Given the description of an element on the screen output the (x, y) to click on. 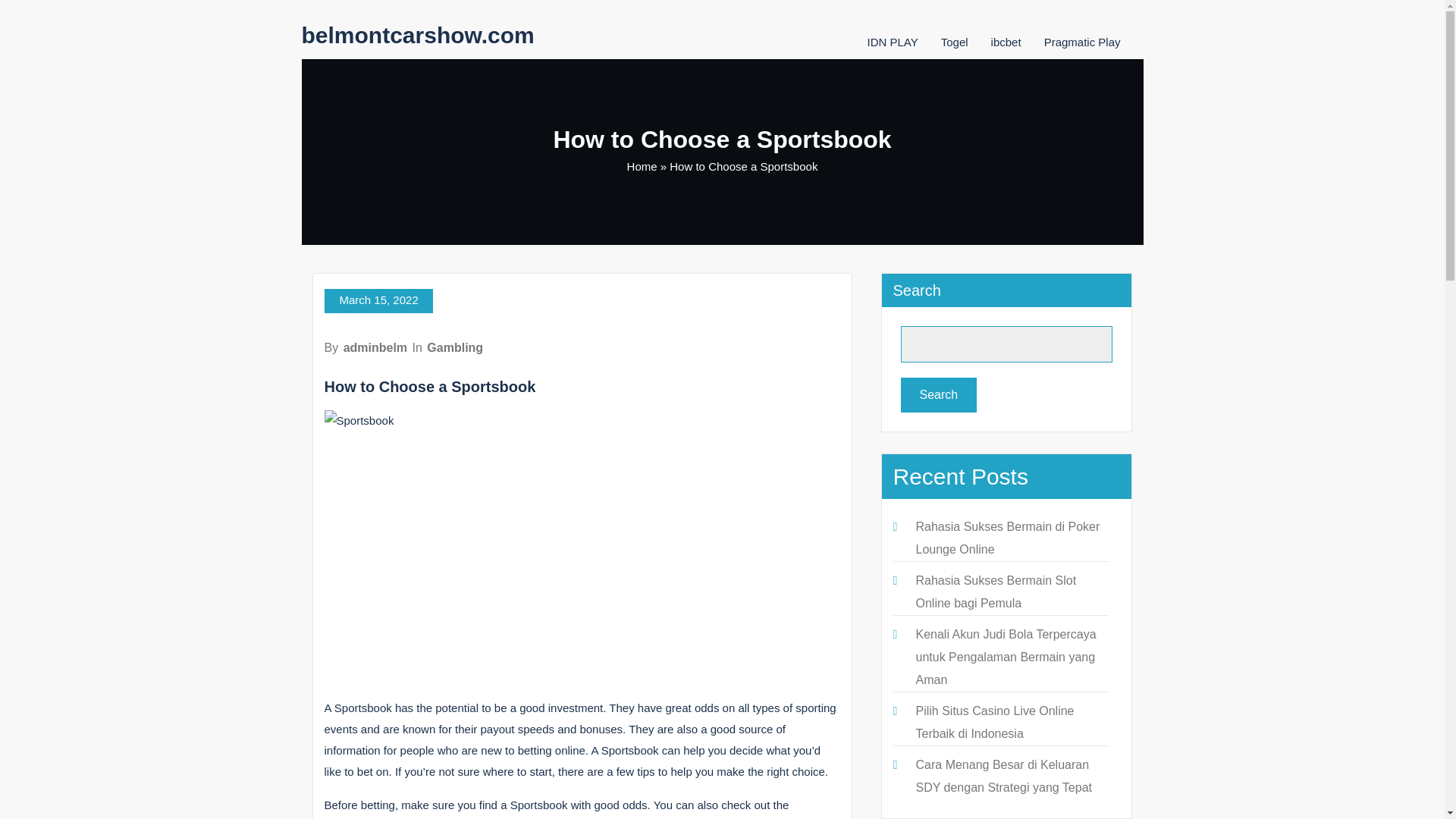
Search (938, 394)
Pragmatic Play (1082, 41)
March 15, 2022 (378, 300)
Rahasia Sukses Bermain Slot Online bagi Pemula (996, 591)
belmontcarshow.com (417, 34)
Home (642, 165)
IDN PLAY (891, 41)
adminbelm (375, 347)
Pilih Situs Casino Live Online Terbaik di Indonesia (994, 722)
